Given the description of an element on the screen output the (x, y) to click on. 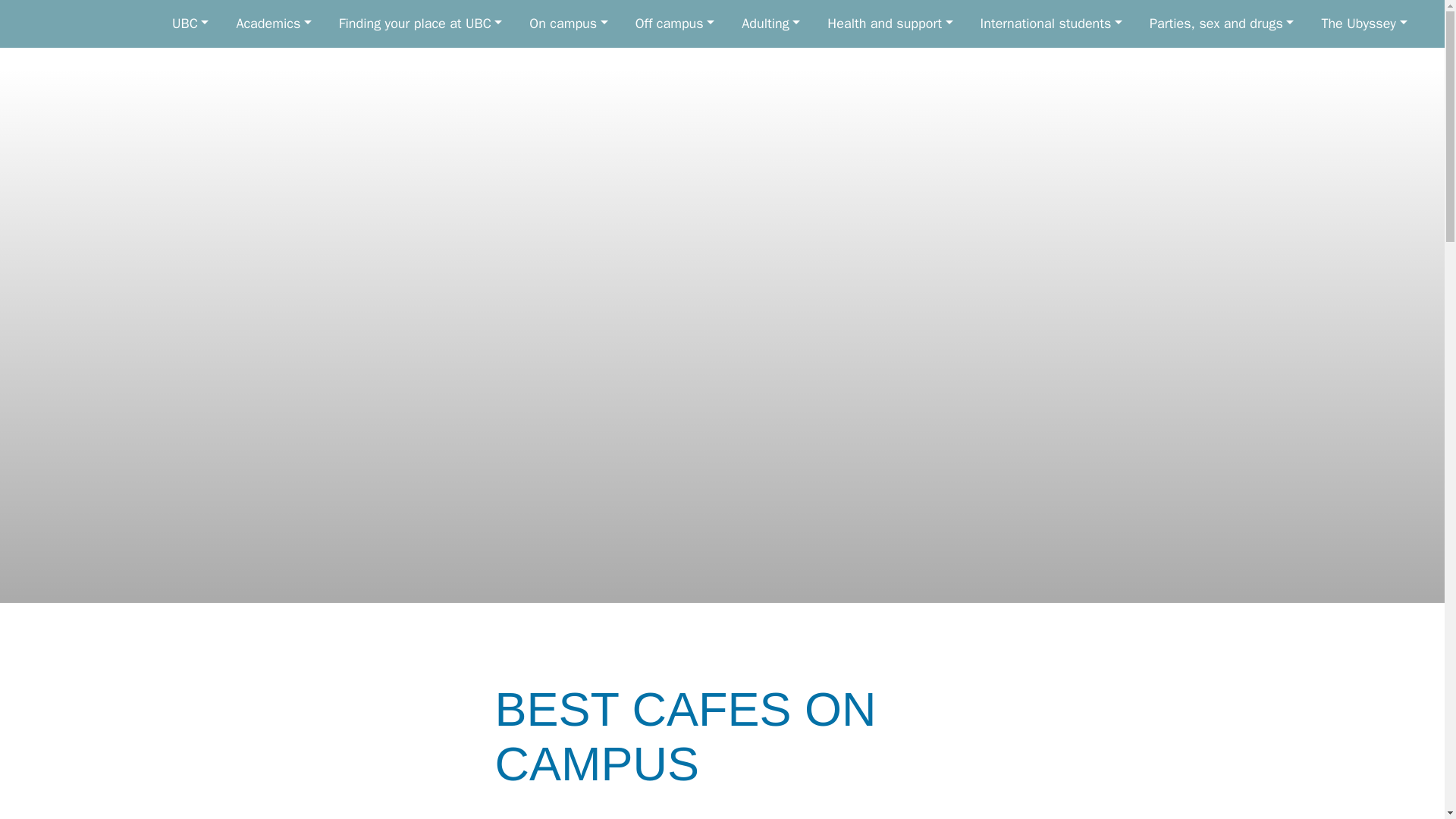
UBC (190, 23)
Finding your place at UBC (420, 23)
On campus (568, 23)
2022 Landing Page (73, 24)
Academics (273, 23)
